Given the description of an element on the screen output the (x, y) to click on. 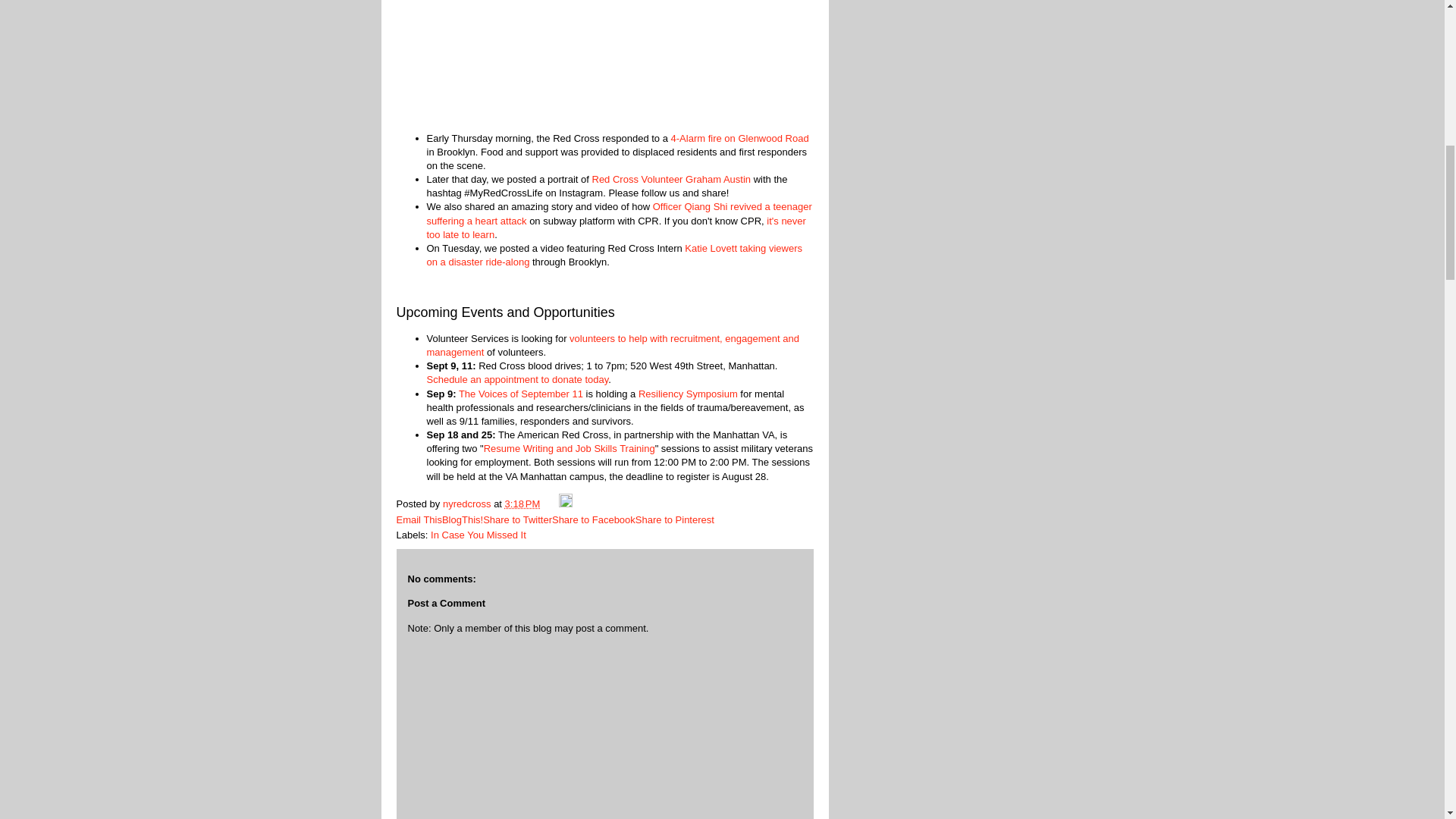
The Voices of September 11 (520, 393)
Share to Pinterest (674, 519)
Email This (418, 519)
4-Alarm fire on Glenwood Road (740, 137)
Red Cross Volunteer Graham Austin (671, 179)
it's never too late to learn (615, 227)
Resume Writing and Job Skills Training (569, 448)
Share to Twitter (517, 519)
Share to Facebook (592, 519)
Share to Facebook (592, 519)
nyredcross (467, 503)
Email Post (551, 503)
